Given the description of an element on the screen output the (x, y) to click on. 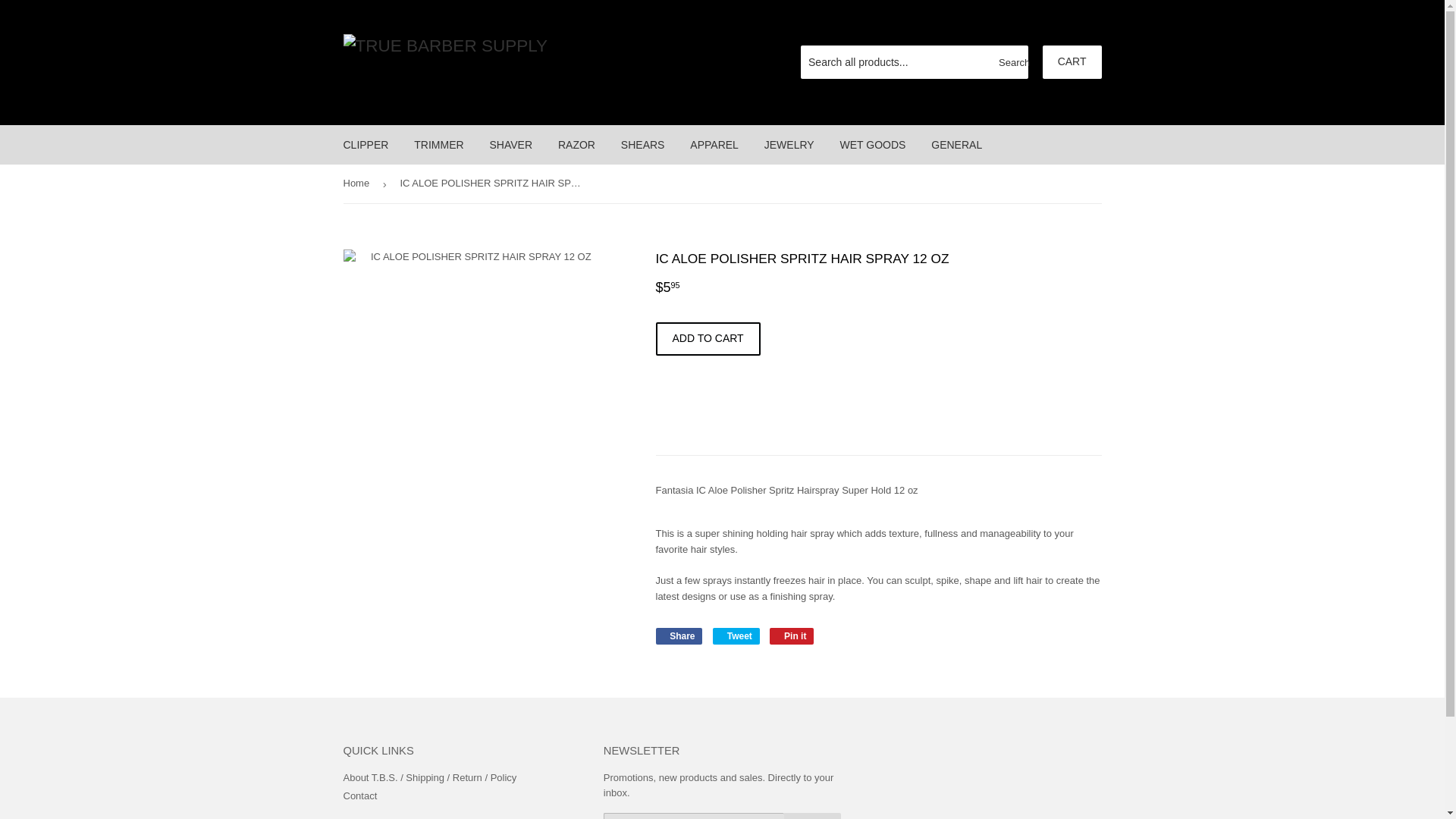
Tweet on Twitter (736, 636)
Share on Facebook (678, 636)
Search (1010, 62)
Pin on Pinterest (791, 636)
CART (1072, 61)
